Given the description of an element on the screen output the (x, y) to click on. 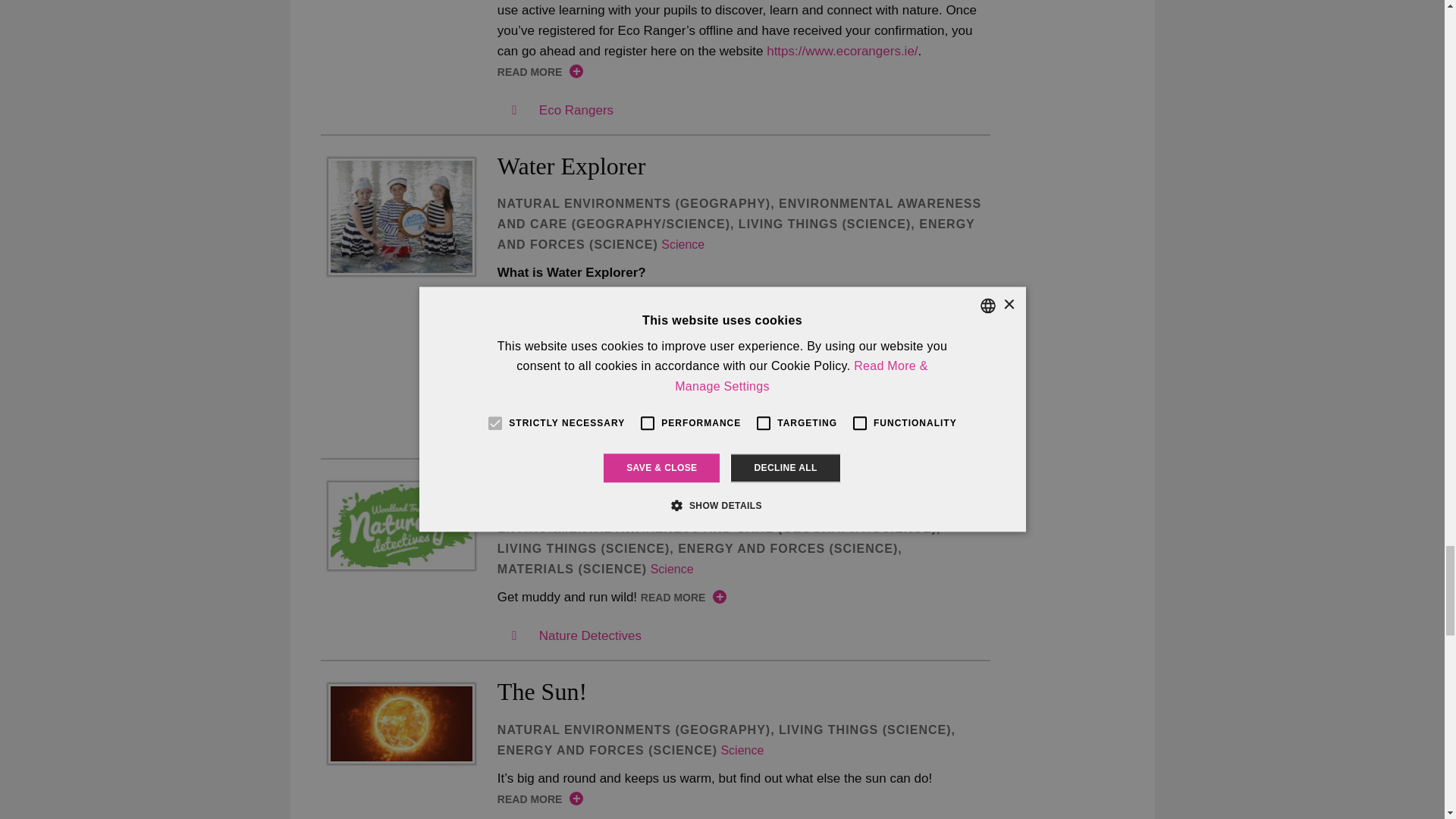
Water Explorer (400, 216)
Woodland Trust Nature Dectives (400, 525)
The Sun! (400, 723)
